Given the description of an element on the screen output the (x, y) to click on. 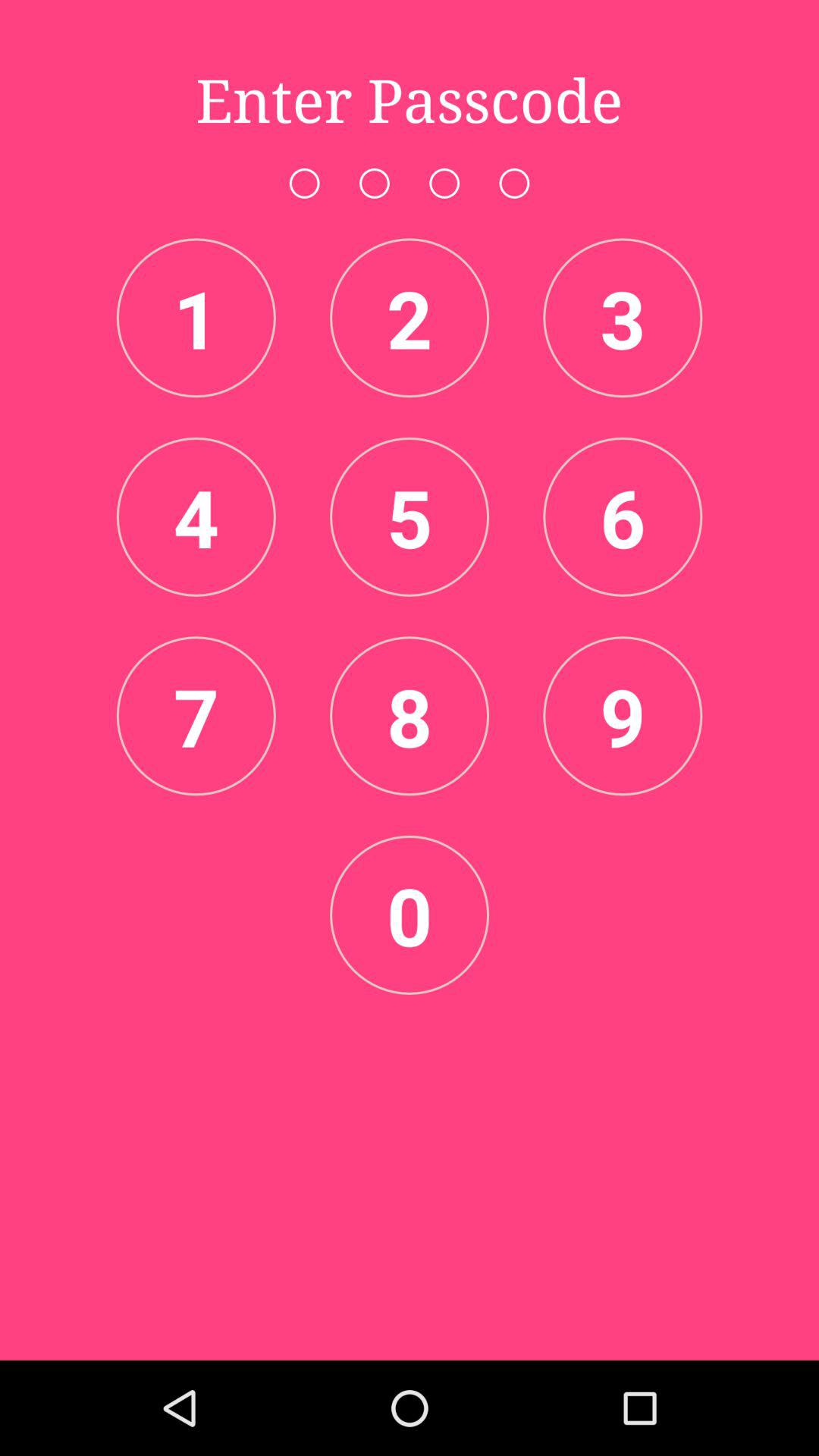
flip until the 9 item (622, 715)
